Given the description of an element on the screen output the (x, y) to click on. 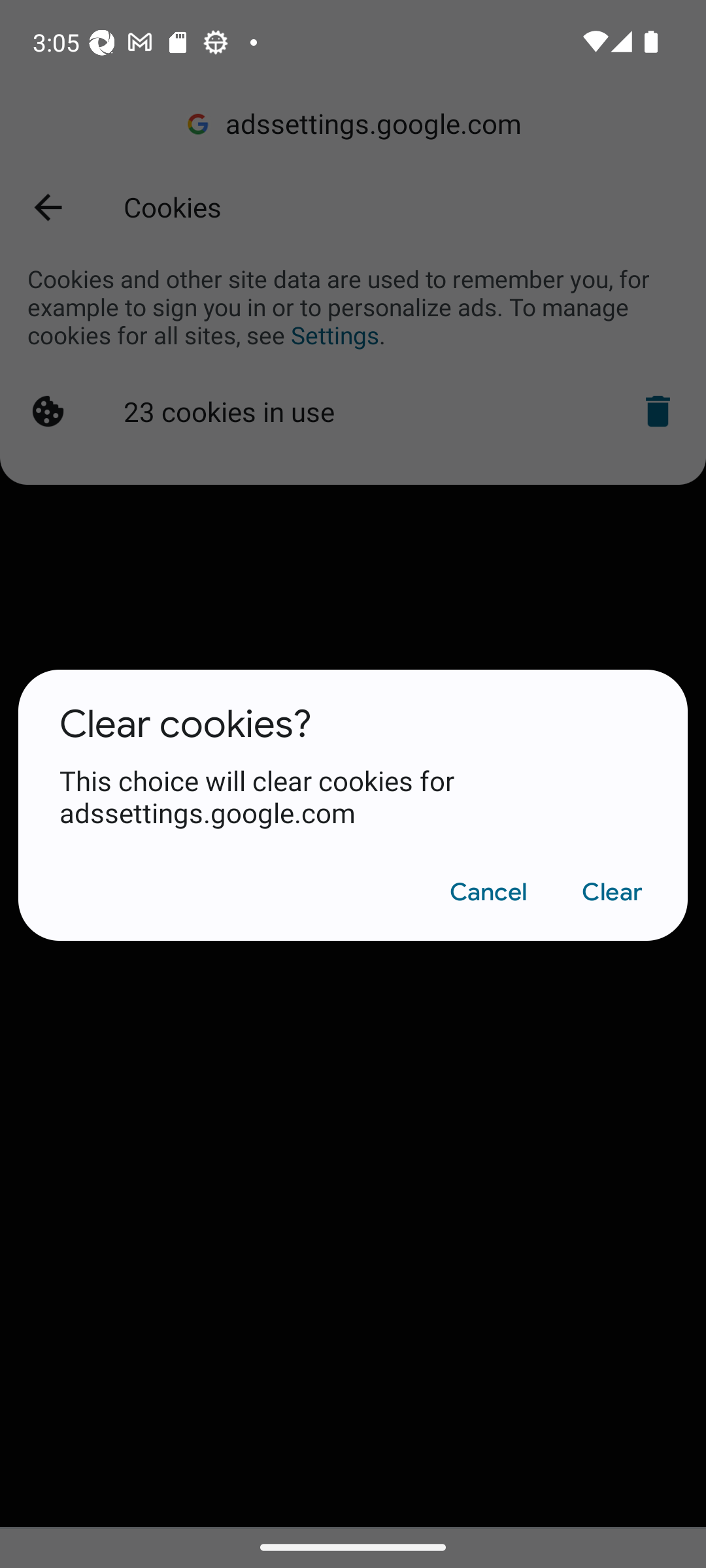
Cancel (487, 891)
Clear (611, 891)
